Given the description of an element on the screen output the (x, y) to click on. 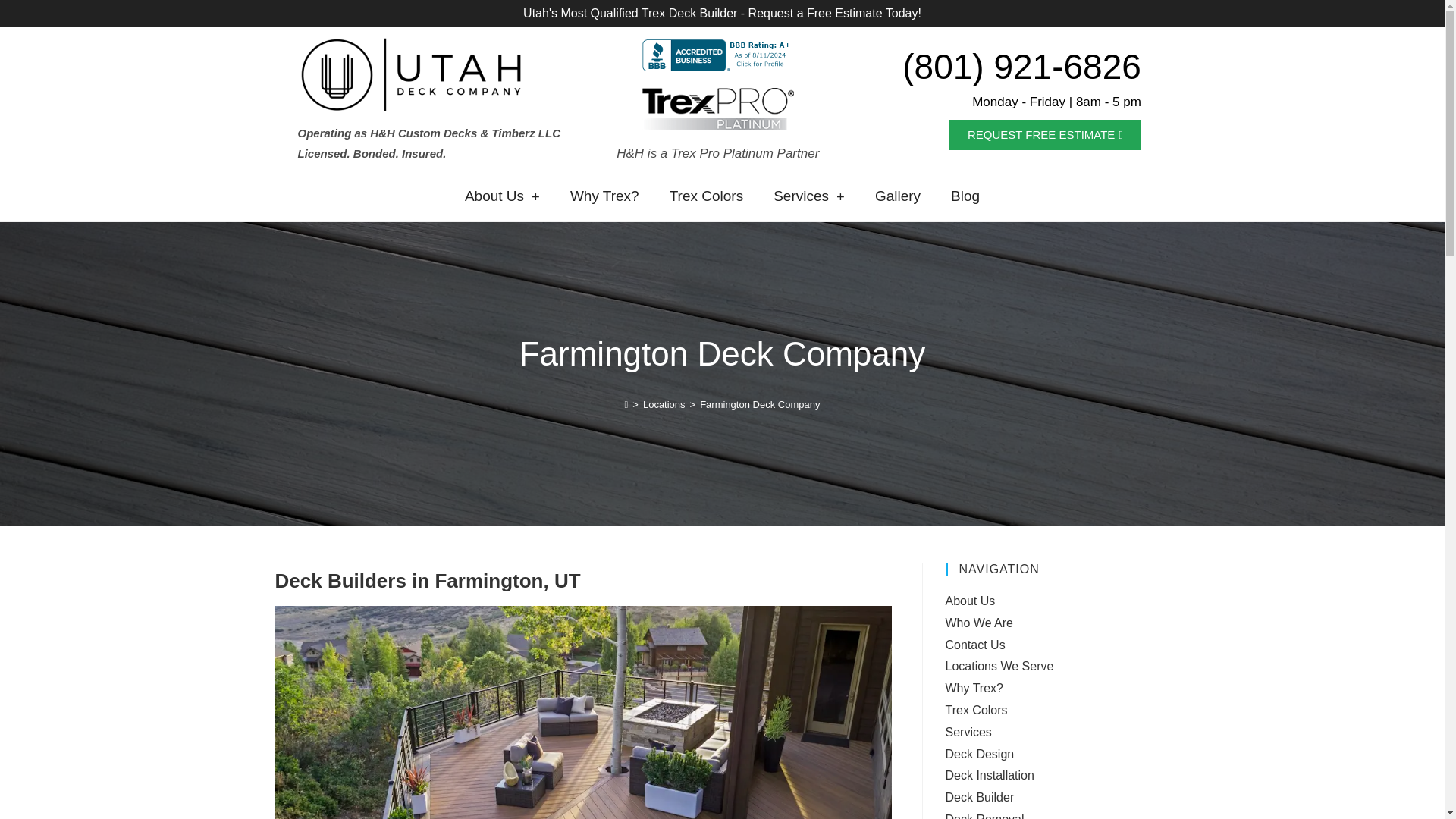
Who We Are (978, 622)
Why Trex? (973, 687)
Locations (664, 404)
Farmington Deck Company (759, 404)
Trex Colors (705, 196)
Contact Us (974, 644)
About Us (501, 196)
Services (809, 196)
Why Trex? (603, 196)
Gallery (898, 196)
